Given the description of an element on the screen output the (x, y) to click on. 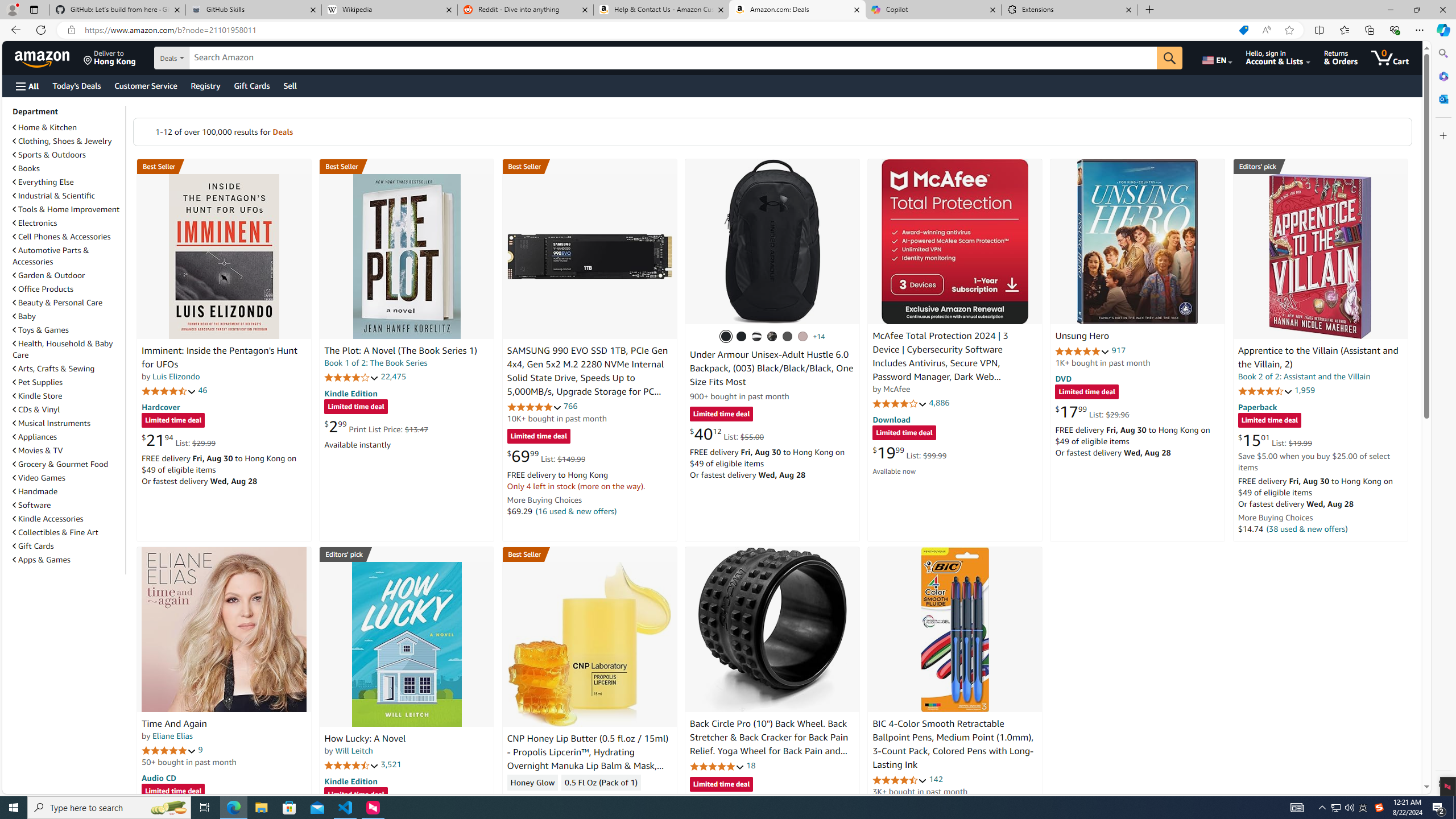
Unsung Hero (1137, 241)
Copilot (933, 9)
The Plot: A Novel (The Book Series 1) (400, 351)
(002) Black / Black / White (756, 336)
Open Menu (26, 86)
Registry (205, 85)
Arts, Crafts & Sewing (53, 368)
Help & Contact Us - Amazon Customer Service (660, 9)
Clothing, Shoes & Jewelry (67, 140)
Collectibles & Fine Art (56, 532)
Shopping in Microsoft Edge (1243, 29)
